Given the description of an element on the screen output the (x, y) to click on. 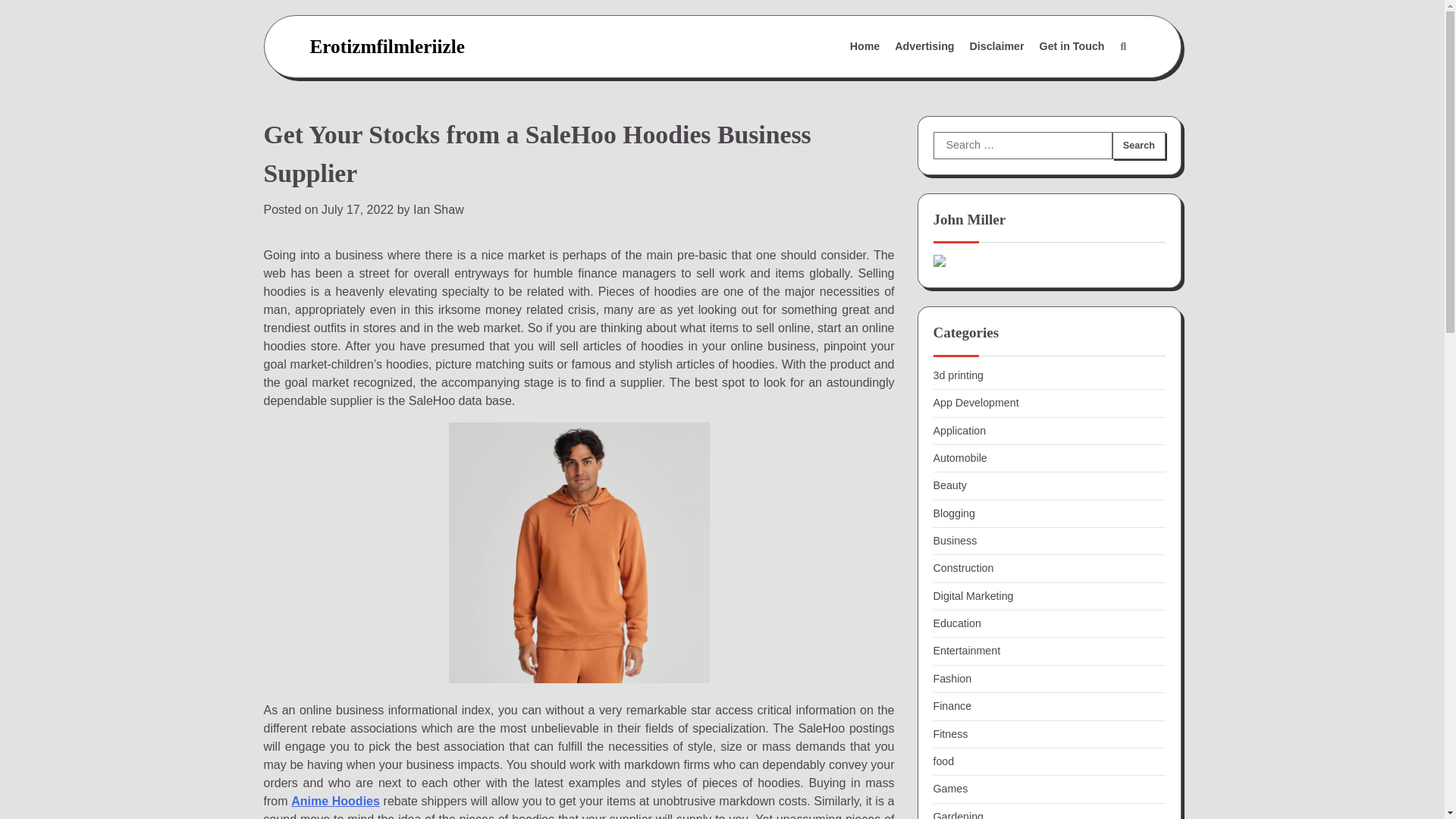
Search (1123, 47)
Search (1138, 144)
Ian Shaw (438, 209)
Construction (962, 567)
food (943, 761)
App Development (975, 402)
Business (954, 540)
Gardening (957, 814)
Games (950, 788)
Fitness (950, 734)
Erotizmfilmleriizle (386, 46)
Search (1138, 144)
Home (865, 46)
Get in Touch (1072, 46)
Application (959, 430)
